Given the description of an element on the screen output the (x, y) to click on. 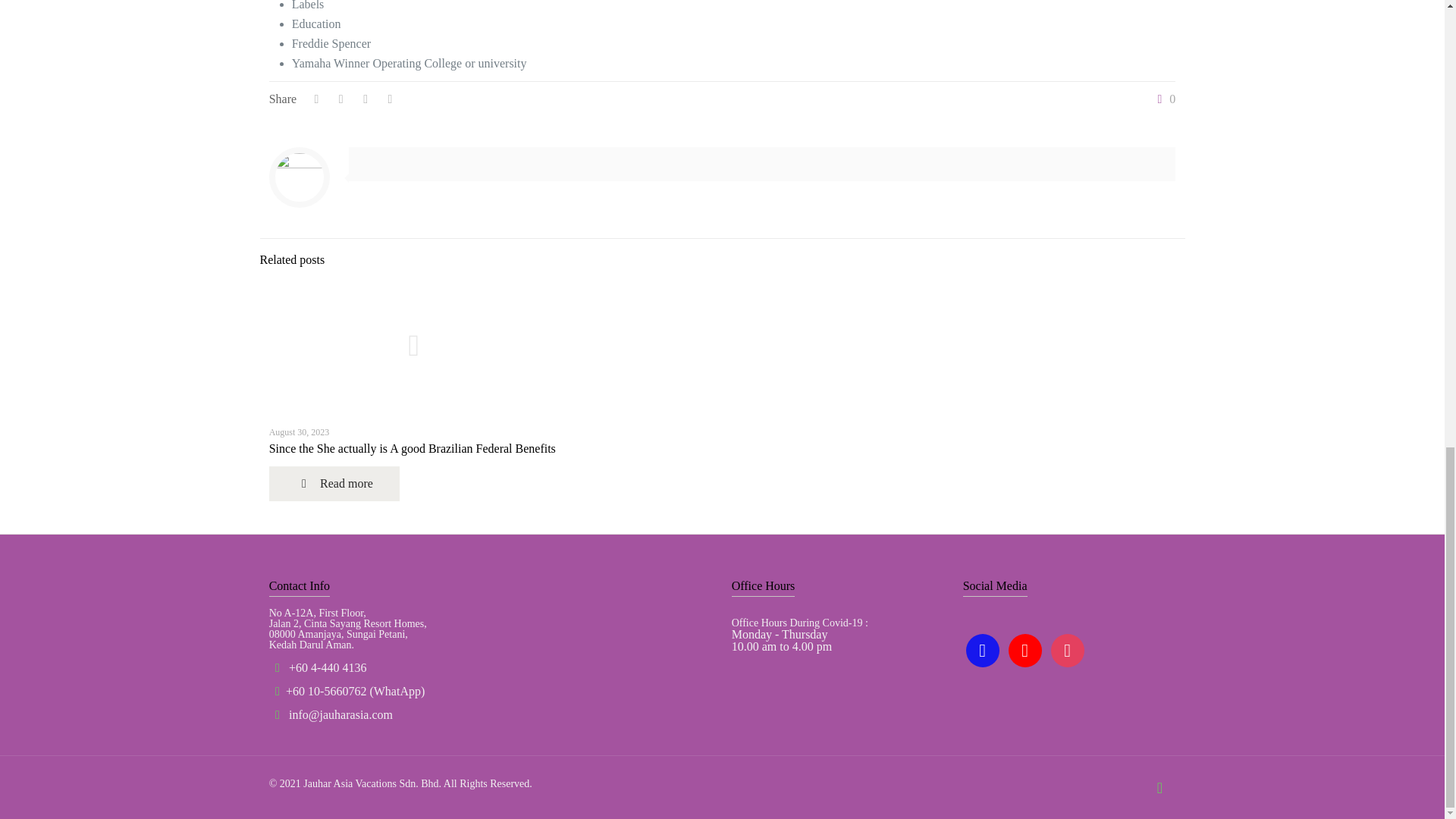
Read more (333, 483)
Since the She actually is A good Brazilian Federal Benefits (412, 448)
facebook (982, 649)
0 (1162, 99)
instagram (1067, 649)
youtube (1025, 649)
